Given the description of an element on the screen output the (x, y) to click on. 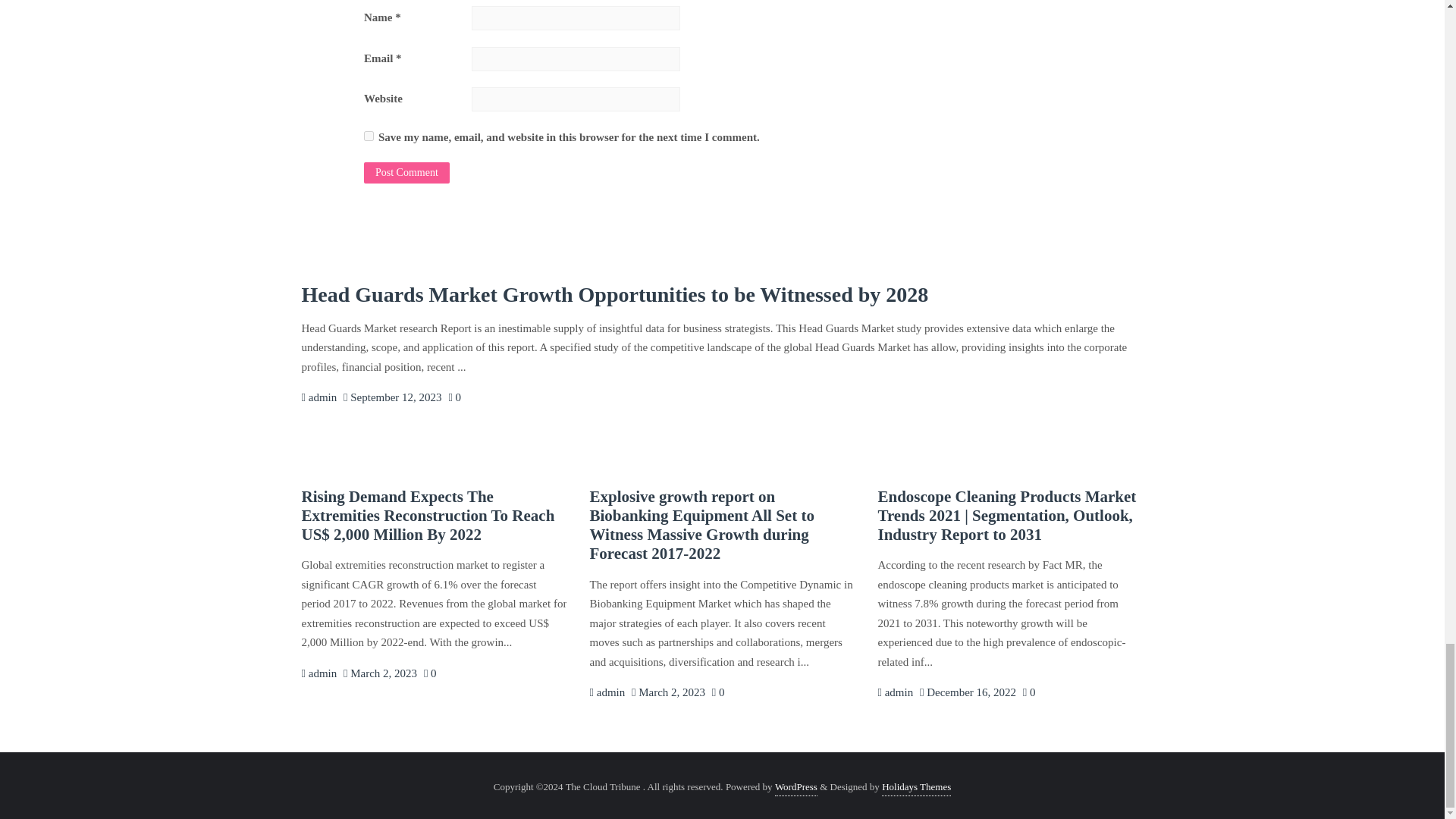
admin (319, 673)
admin (894, 692)
admin (319, 397)
yes (369, 135)
admin (606, 692)
Post Comment (406, 172)
